Given the description of an element on the screen output the (x, y) to click on. 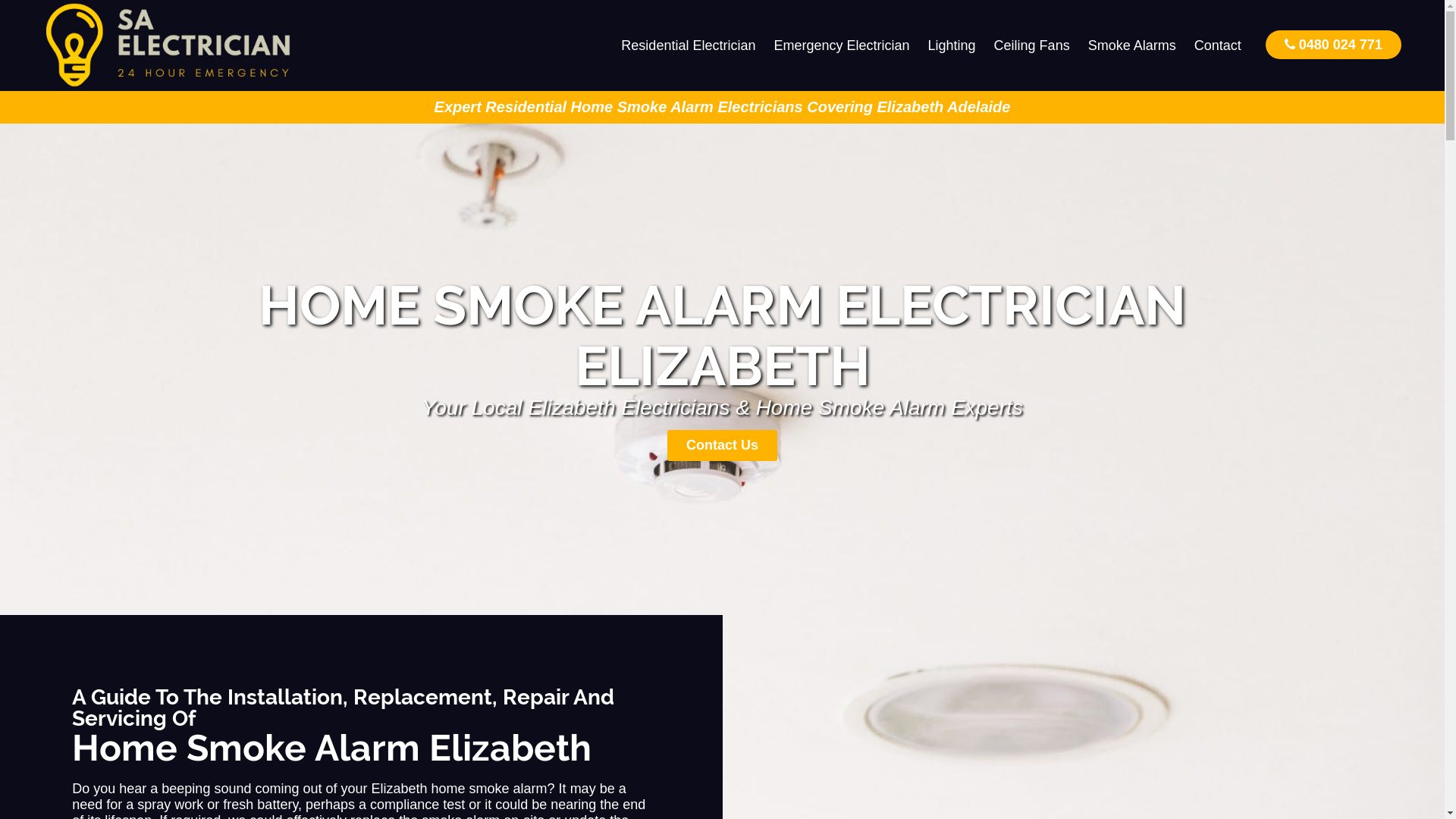
Ceiling Fans Element type: text (1032, 45)
Emergency Electrician Element type: text (841, 45)
Residential Electrician Element type: text (687, 45)
Contact Element type: text (1217, 45)
Smoke Alarms Element type: text (1132, 45)
0480 024 771 Element type: text (1333, 44)
Contact Us Element type: text (722, 445)
Lighting Element type: text (952, 45)
